Given the description of an element on the screen output the (x, y) to click on. 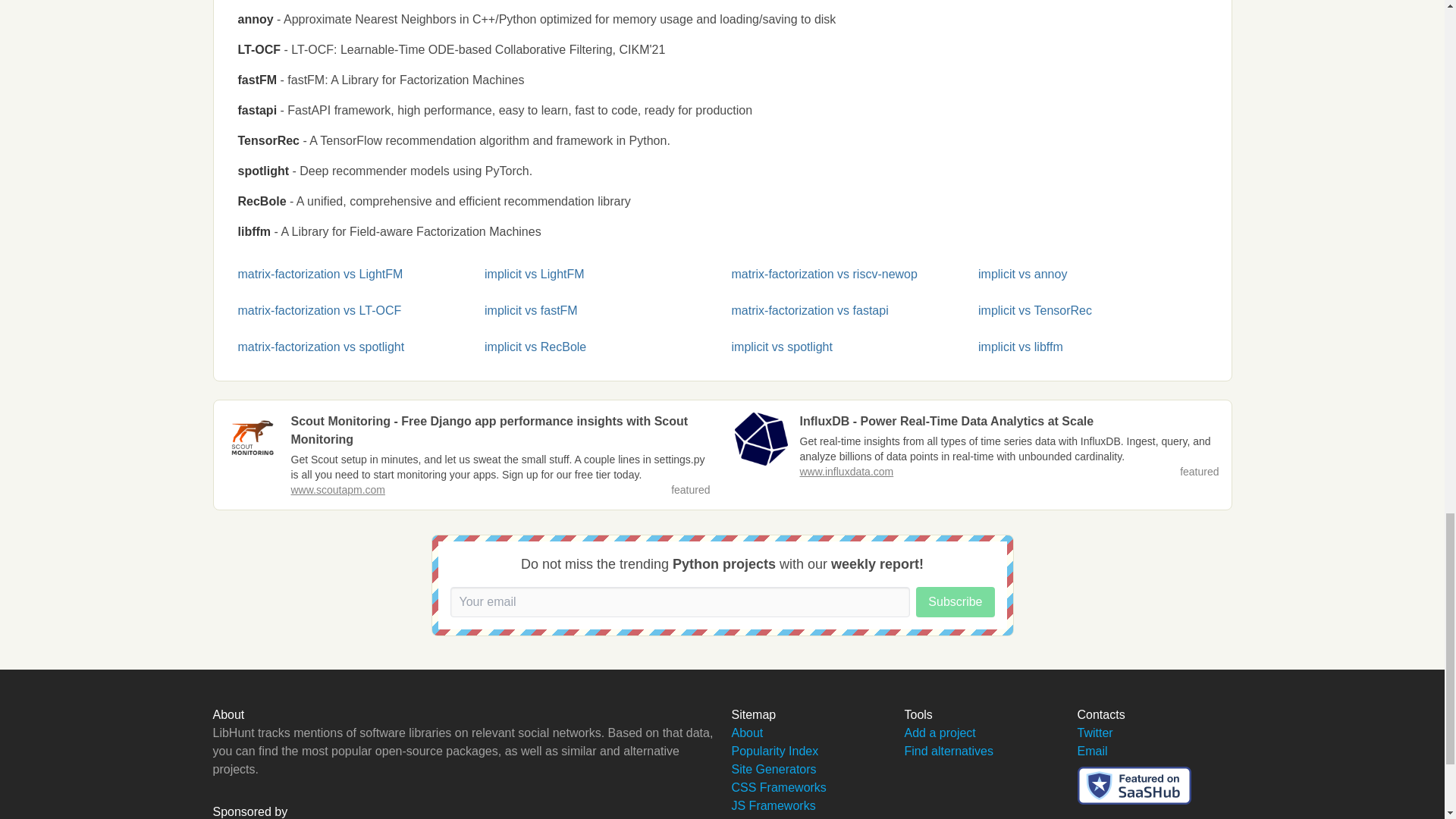
InfluxDB Logo (760, 439)
Scout Monitoring Logo (252, 439)
Subscribe (954, 602)
